Given the description of an element on the screen output the (x, y) to click on. 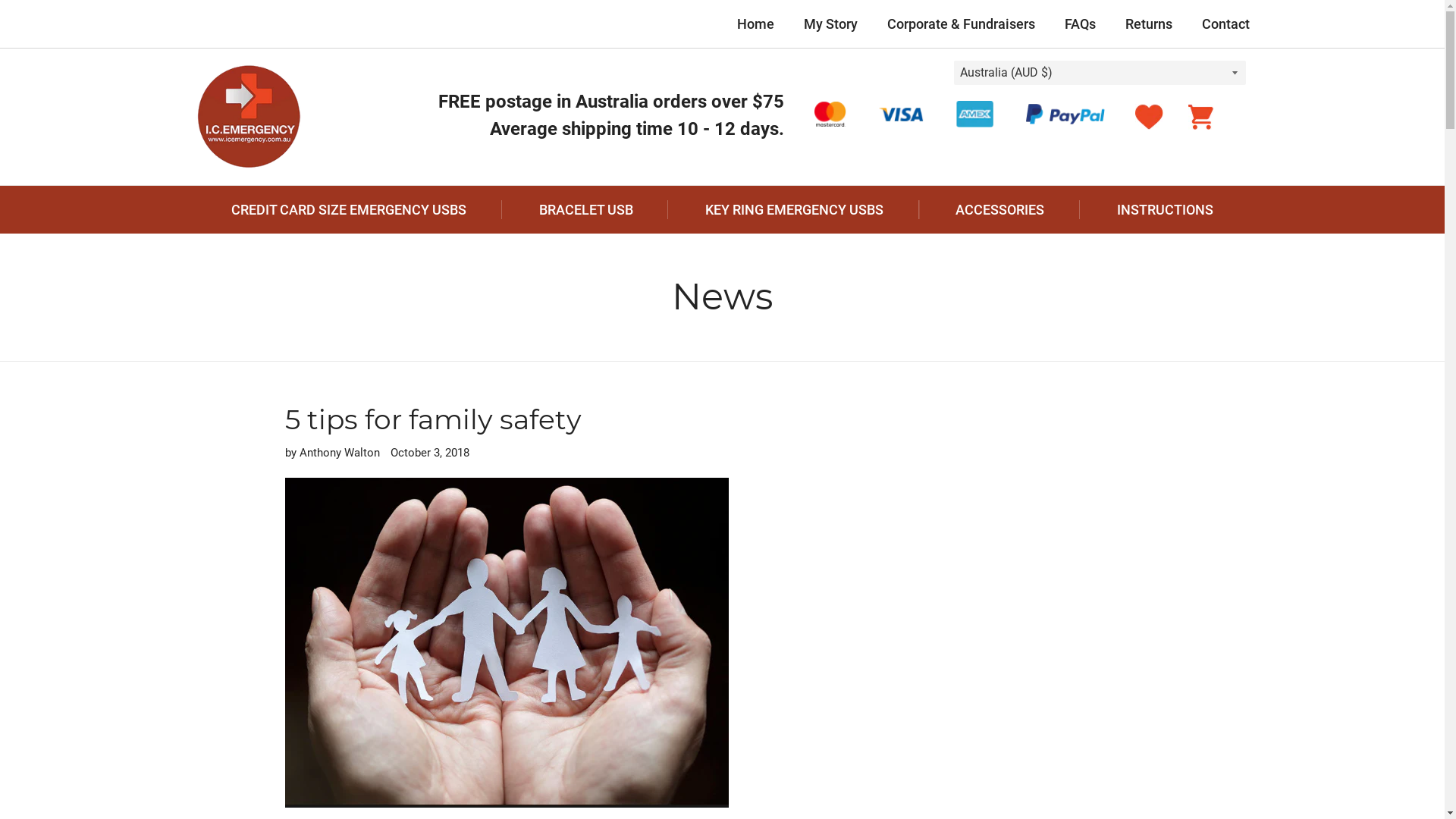
Contact Element type: text (1224, 23)
Returns Element type: text (1148, 23)
My Story Element type: text (830, 23)
ACCESSORIES Element type: text (999, 209)
Corporate & Fundraisers Element type: text (961, 23)
CREDIT CARD SIZE EMERGENCY USBS Element type: text (348, 209)
Cart Element type: text (1201, 116)
KEY RING EMERGENCY USBS Element type: text (793, 209)
Home Element type: text (755, 23)
BRACELET USB Element type: text (585, 209)
INSTRUCTIONS Element type: text (1164, 209)
FAQs Element type: text (1079, 23)
5 tips for family safety Element type: text (433, 419)
